Given the description of an element on the screen output the (x, y) to click on. 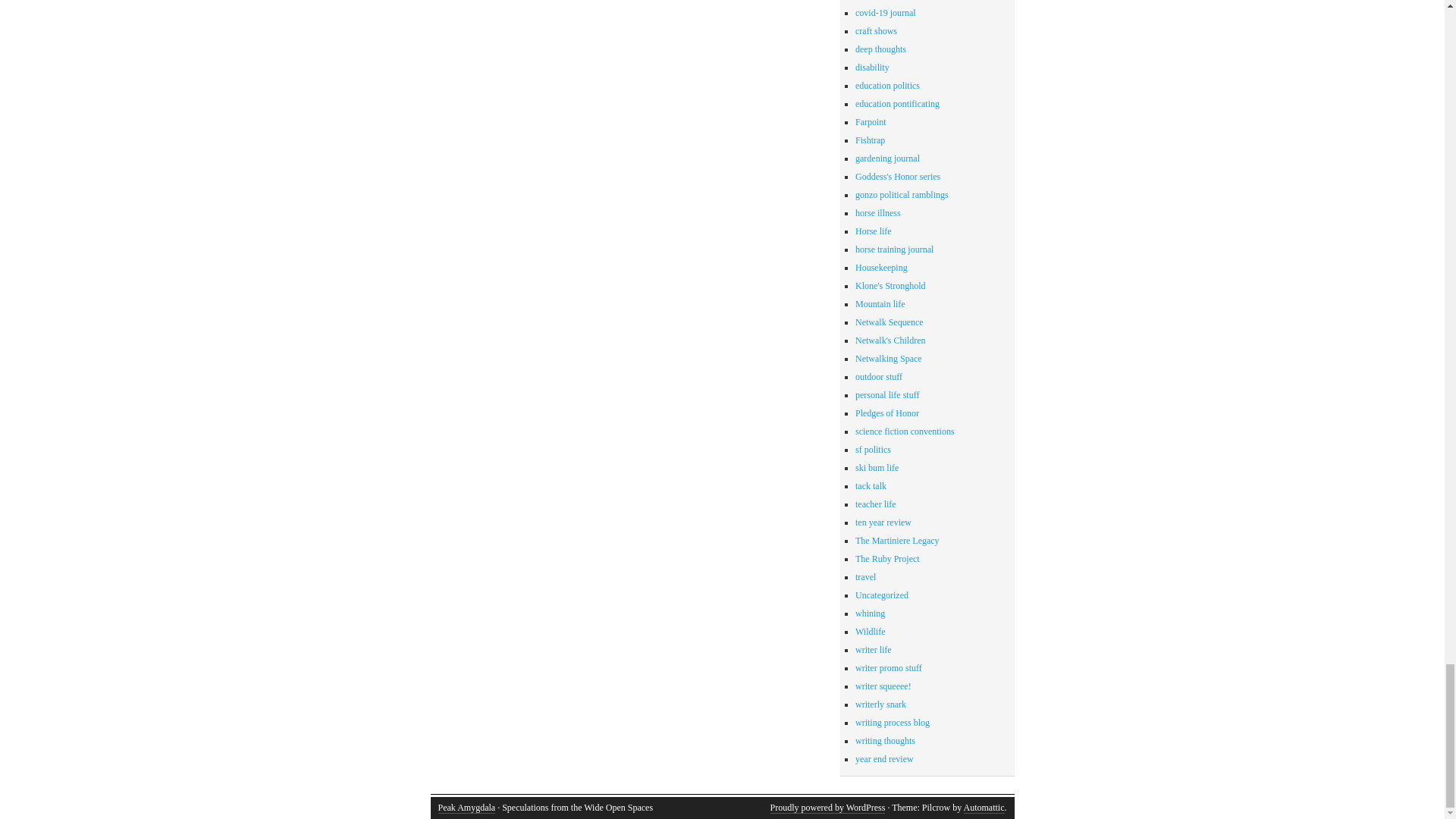
A Semantic Personal Publishing Platform (827, 808)
Peak Amygdala (467, 808)
